Given the description of an element on the screen output the (x, y) to click on. 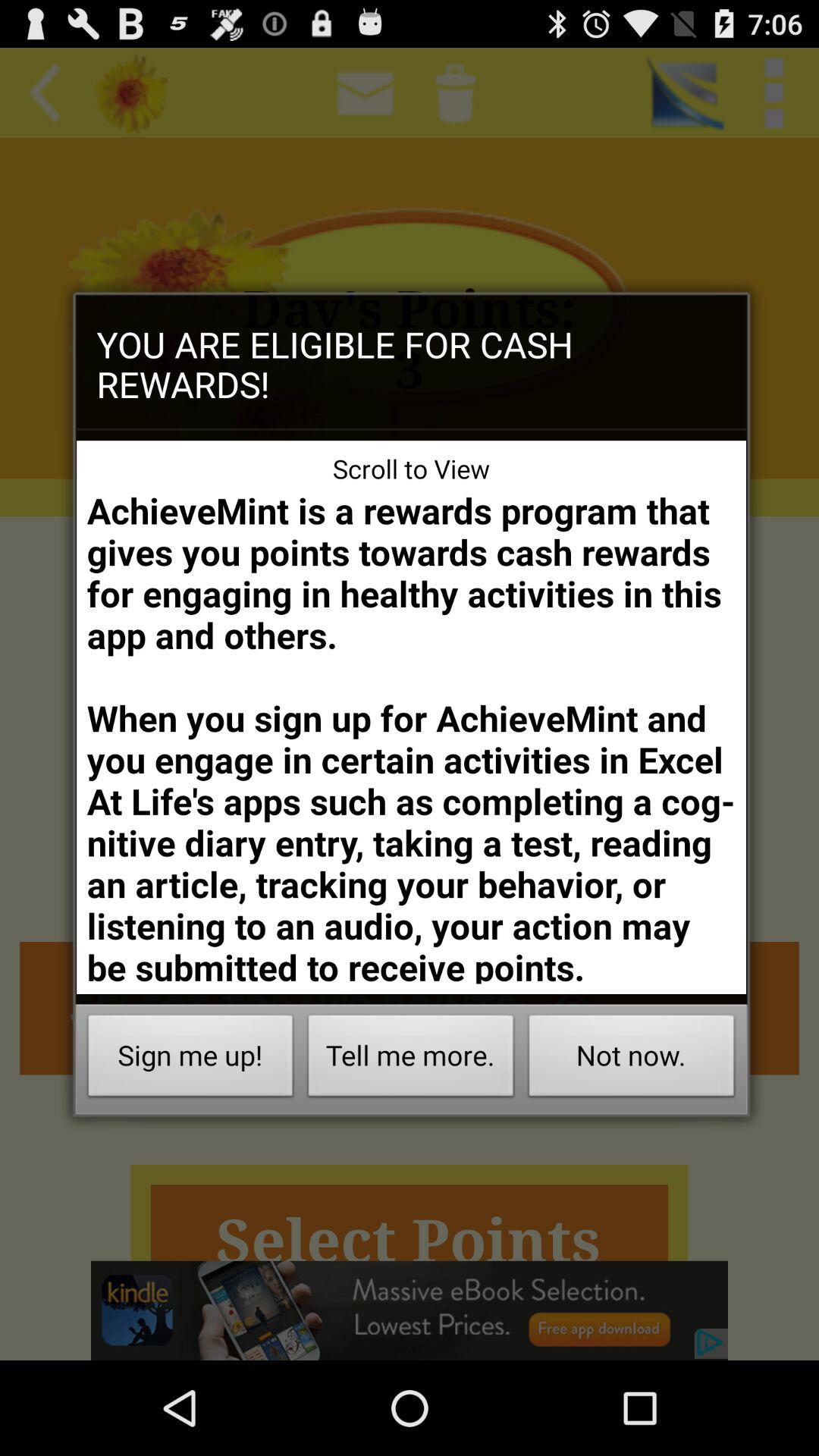
open item to the right of the sign me up! icon (410, 1059)
